Given the description of an element on the screen output the (x, y) to click on. 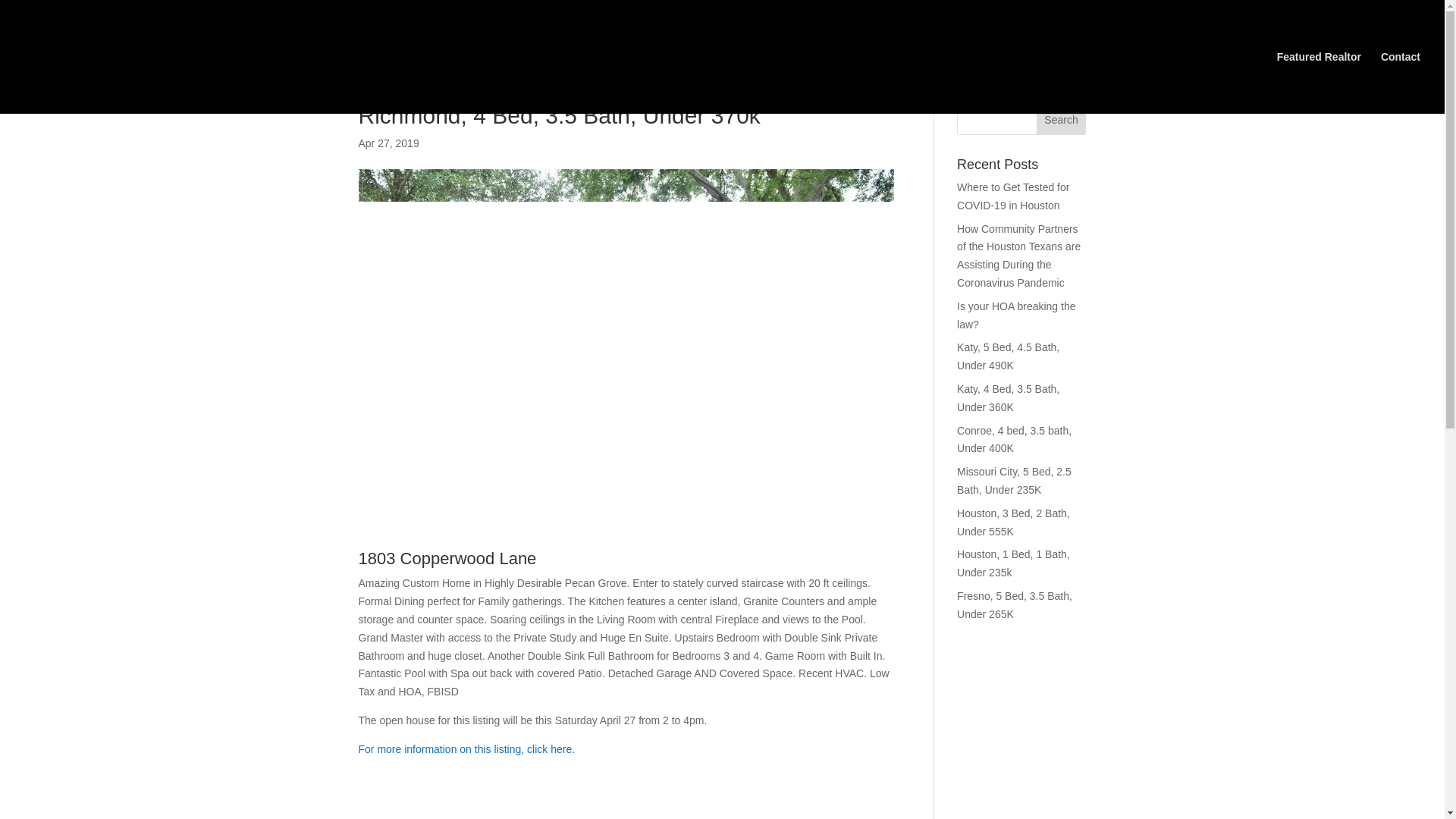
Conroe, 4 bed, 3.5 bath, Under 400K (1013, 440)
Search (1061, 119)
Where to Get Tested for COVID-19 in Houston (1012, 195)
Search (1061, 119)
Katy, 4 Bed, 3.5 Bath, Under 360K (1007, 398)
For more information on this listing, click here. (466, 748)
Katy, 5 Bed, 4.5 Bath, Under 490K (1007, 356)
Missouri City, 5 Bed, 2.5 Bath, Under 235K (1013, 481)
Houston, 1 Bed, 1 Bath, Under 235k (1013, 562)
Fresno, 5 Bed, 3.5 Bath, Under 265K (1013, 604)
Houston, 3 Bed, 2 Bath, Under 555K (1013, 521)
Featured Realtor (1318, 82)
Is your HOA breaking the law? (1015, 315)
